Given the description of an element on the screen output the (x, y) to click on. 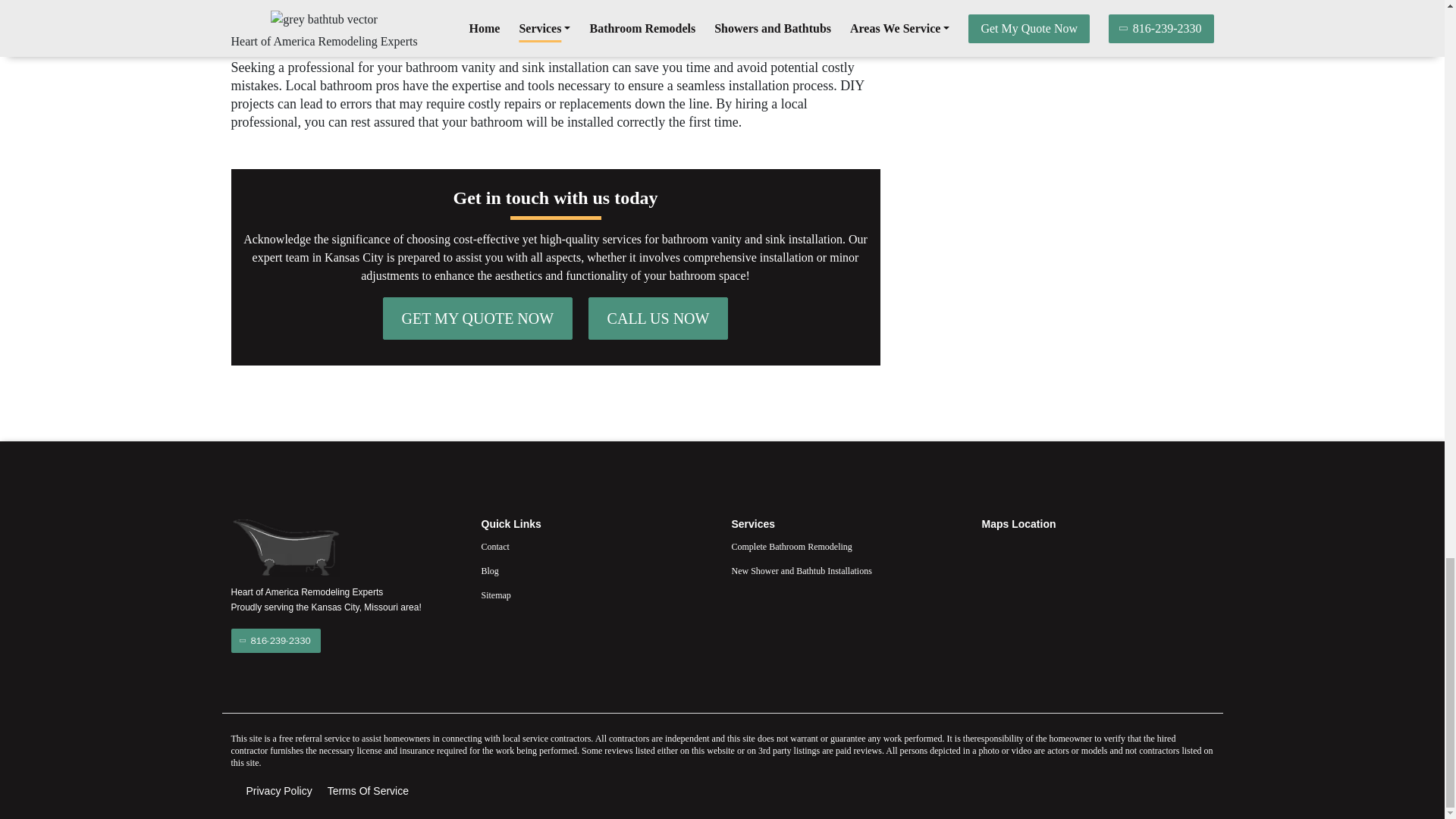
Contact (596, 546)
GET MY QUOTE NOW (477, 318)
CALL US NOW (658, 318)
816-239-2330 (275, 640)
